Given the description of an element on the screen output the (x, y) to click on. 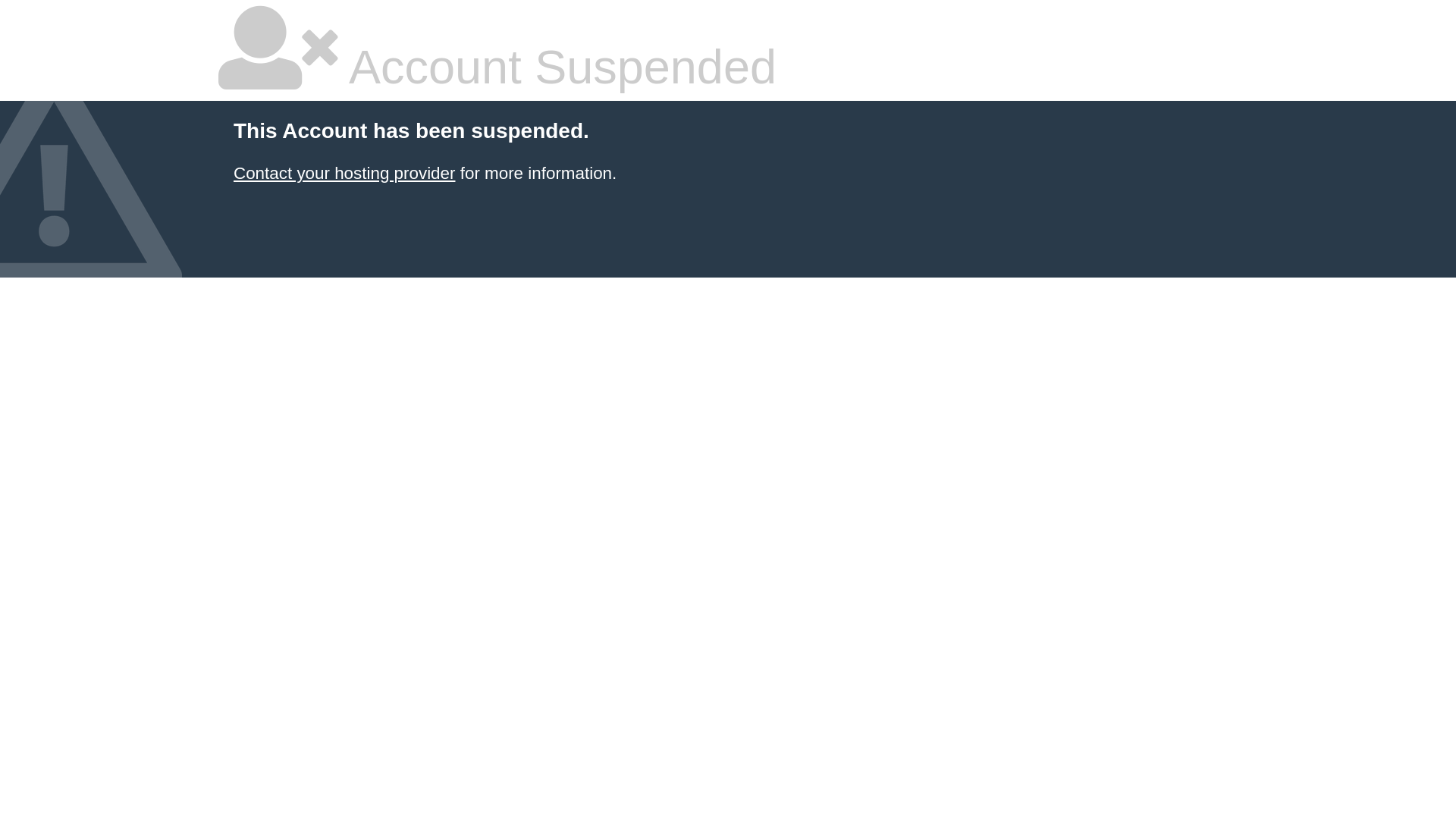
Contact your hosting provider Element type: text (344, 172)
